Given the description of an element on the screen output the (x, y) to click on. 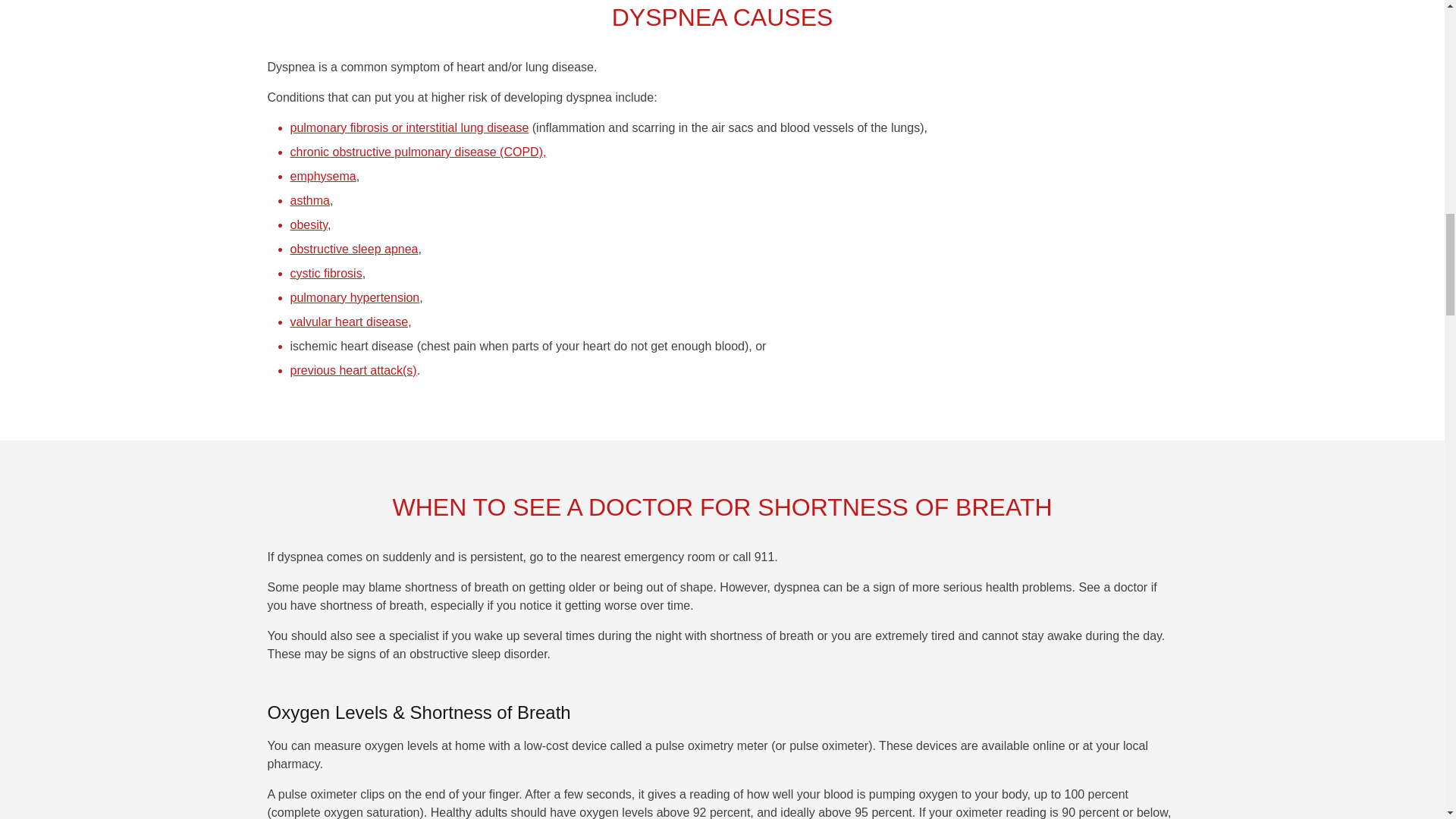
Asthma (309, 200)
Sleep Apnea (353, 248)
pulmonary fibrosis or interstitial lung disease (408, 127)
emphysema (322, 175)
Pulmonary Hypertension (354, 297)
Structural Heart Program (348, 321)
Cystic Fibrosis Center (325, 273)
Pulmonary Emphysema (322, 175)
Heart Attack (352, 369)
Weight Management Program  (308, 224)
